Given the description of an element on the screen output the (x, y) to click on. 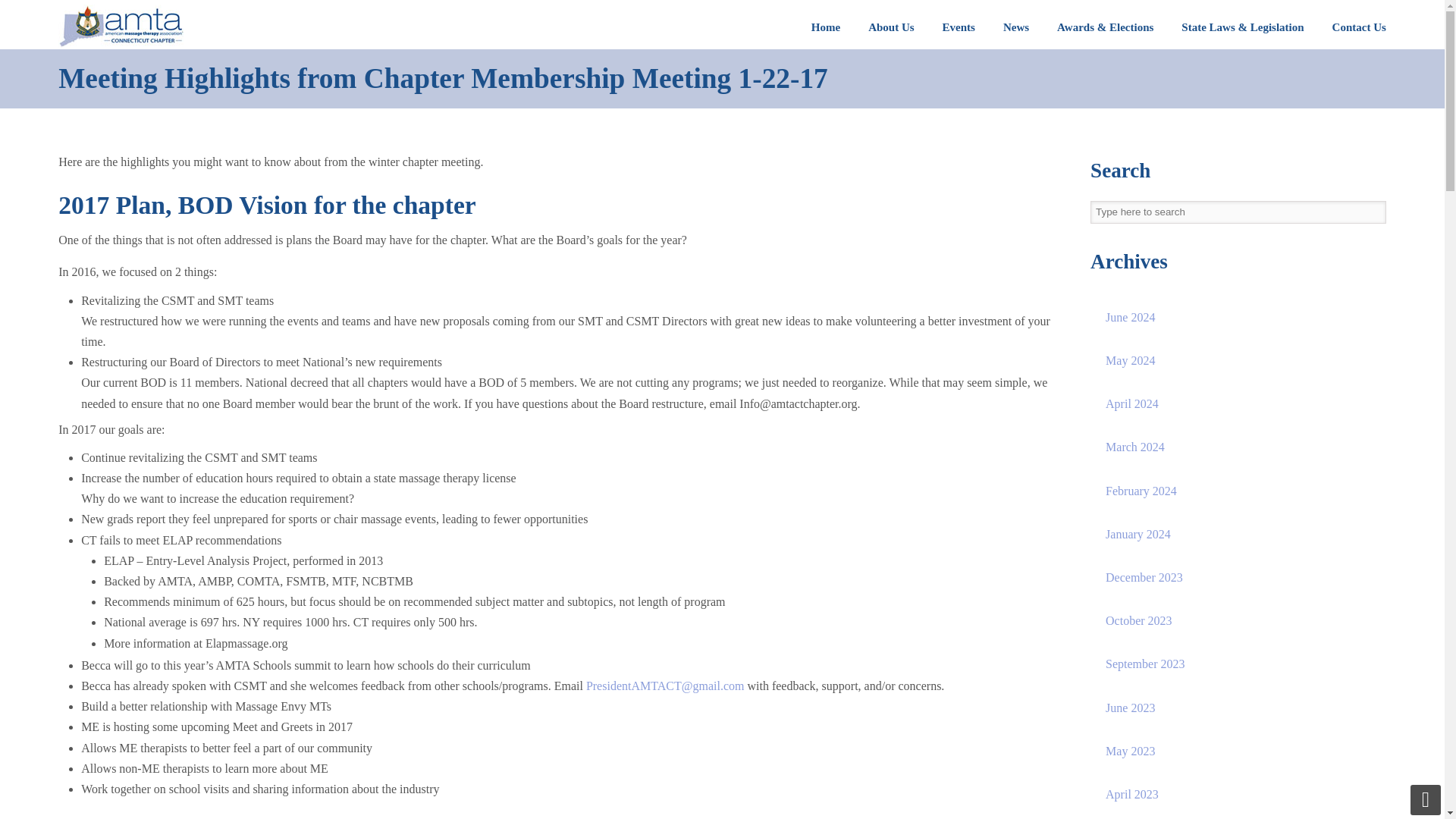
About Us (890, 27)
April 2024 (1238, 403)
Home (826, 27)
December 2023 (1238, 577)
April 2023 (1238, 794)
Contact Us (1358, 27)
Search (1374, 211)
AMTA-CT (120, 26)
May 2024 (1238, 360)
AMTA-CT (120, 26)
